Given the description of an element on the screen output the (x, y) to click on. 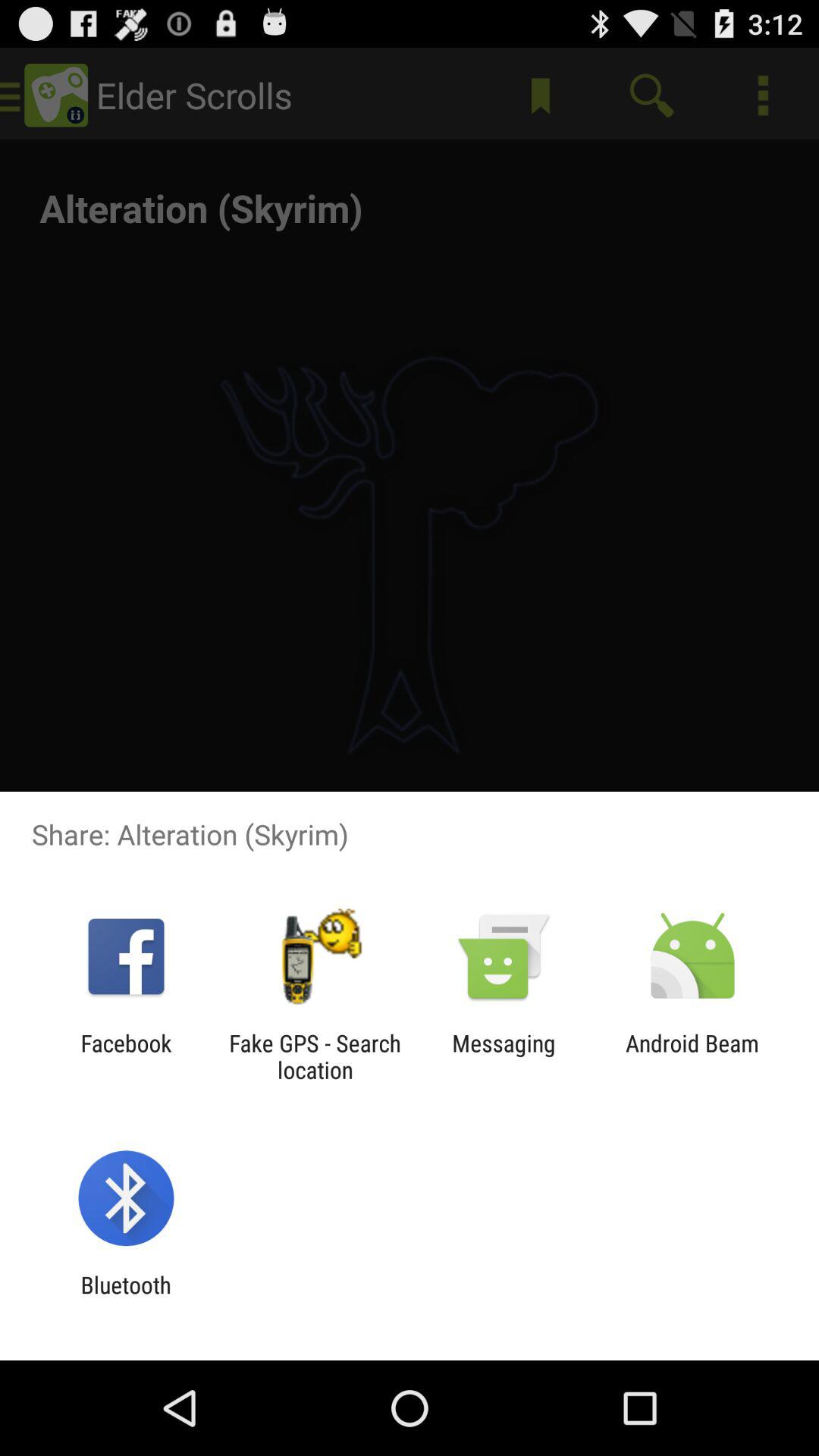
flip to fake gps search app (314, 1056)
